Given the description of an element on the screen output the (x, y) to click on. 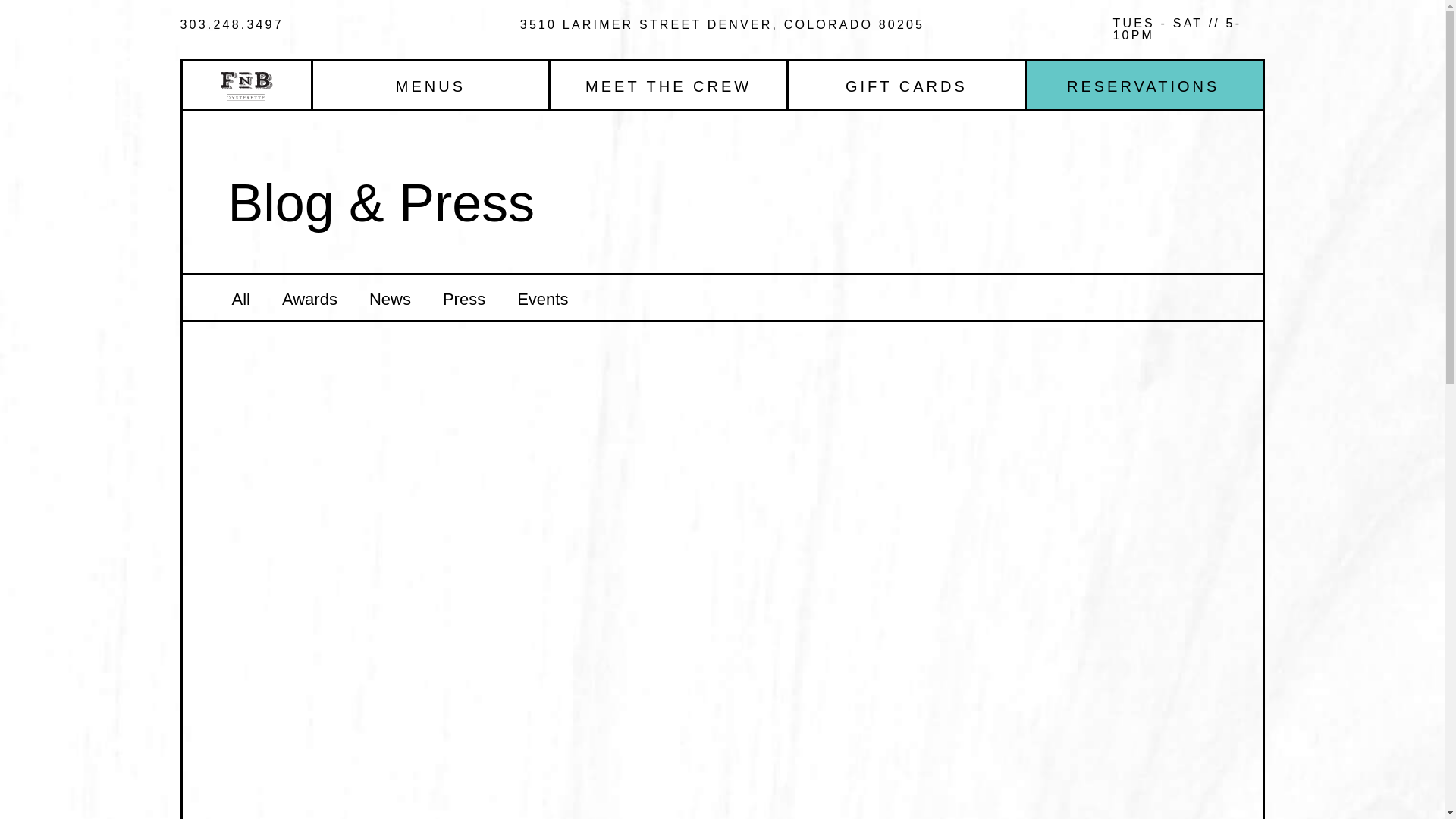
Press (463, 297)
Awards (309, 297)
GIFT CARDS (907, 84)
RESERVATIONS (1144, 84)
News (389, 297)
3510 LARIMER STREET DENVER, COLORADO 80205 (721, 24)
Events (541, 297)
MEET THE CREW (668, 84)
303.248.3497 (231, 24)
All (239, 297)
MENUS (430, 84)
